Given the description of an element on the screen output the (x, y) to click on. 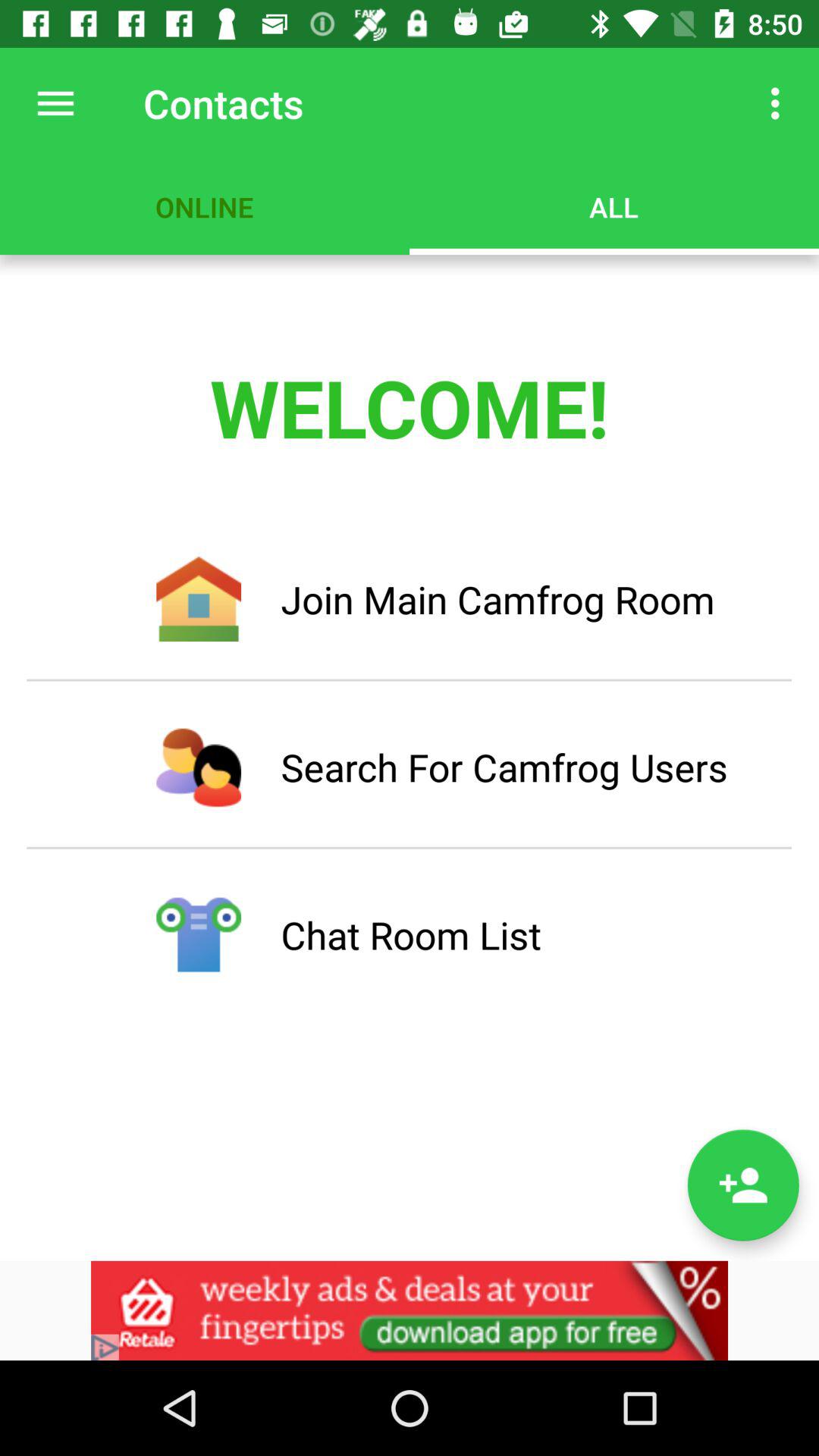
add contact (743, 1185)
